Given the description of an element on the screen output the (x, y) to click on. 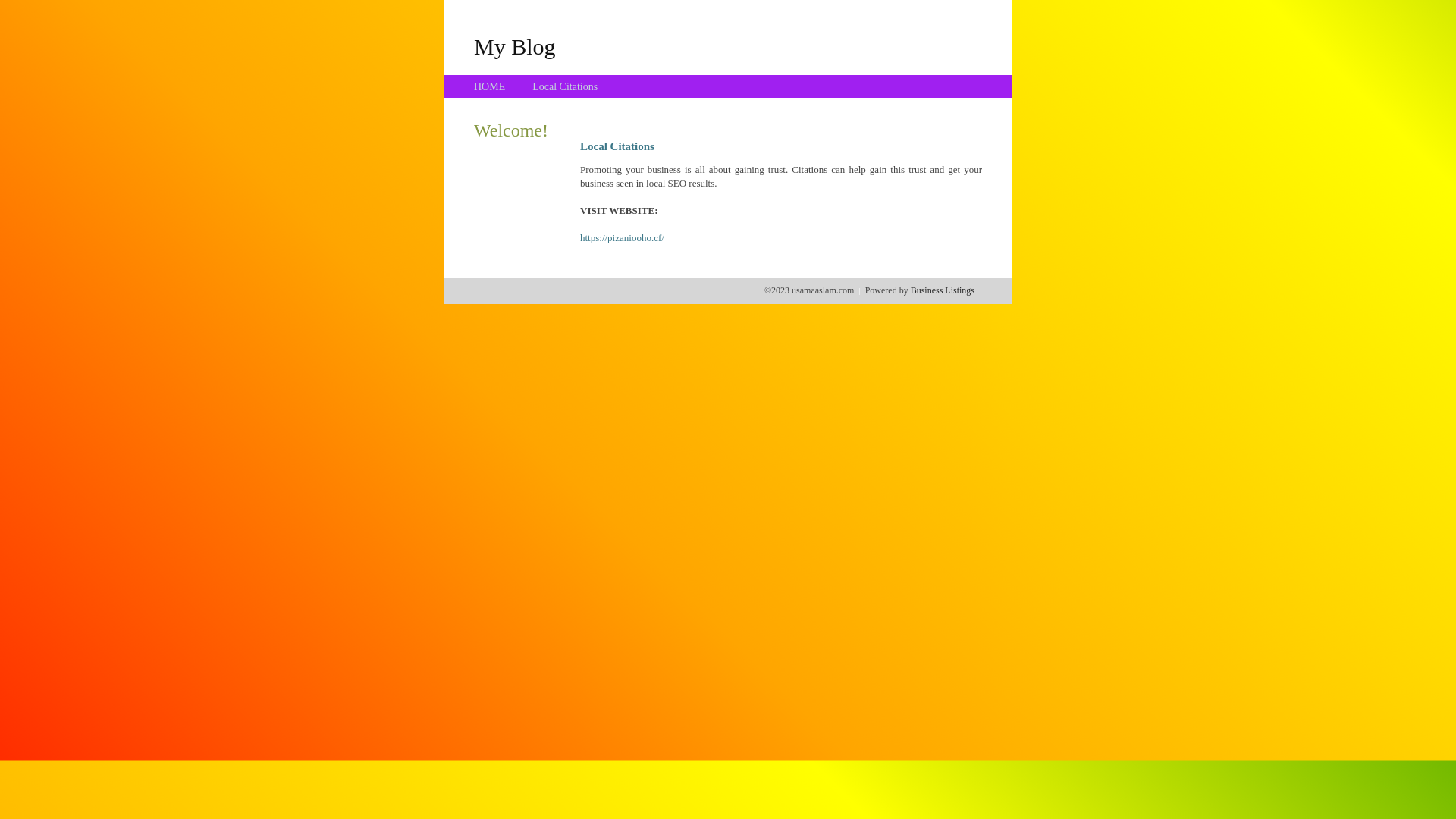
Local Citations Element type: text (564, 86)
https://pizaniooho.cf/ Element type: text (622, 237)
My Blog Element type: text (514, 46)
Business Listings Element type: text (942, 290)
HOME Element type: text (489, 86)
